Given the description of an element on the screen output the (x, y) to click on. 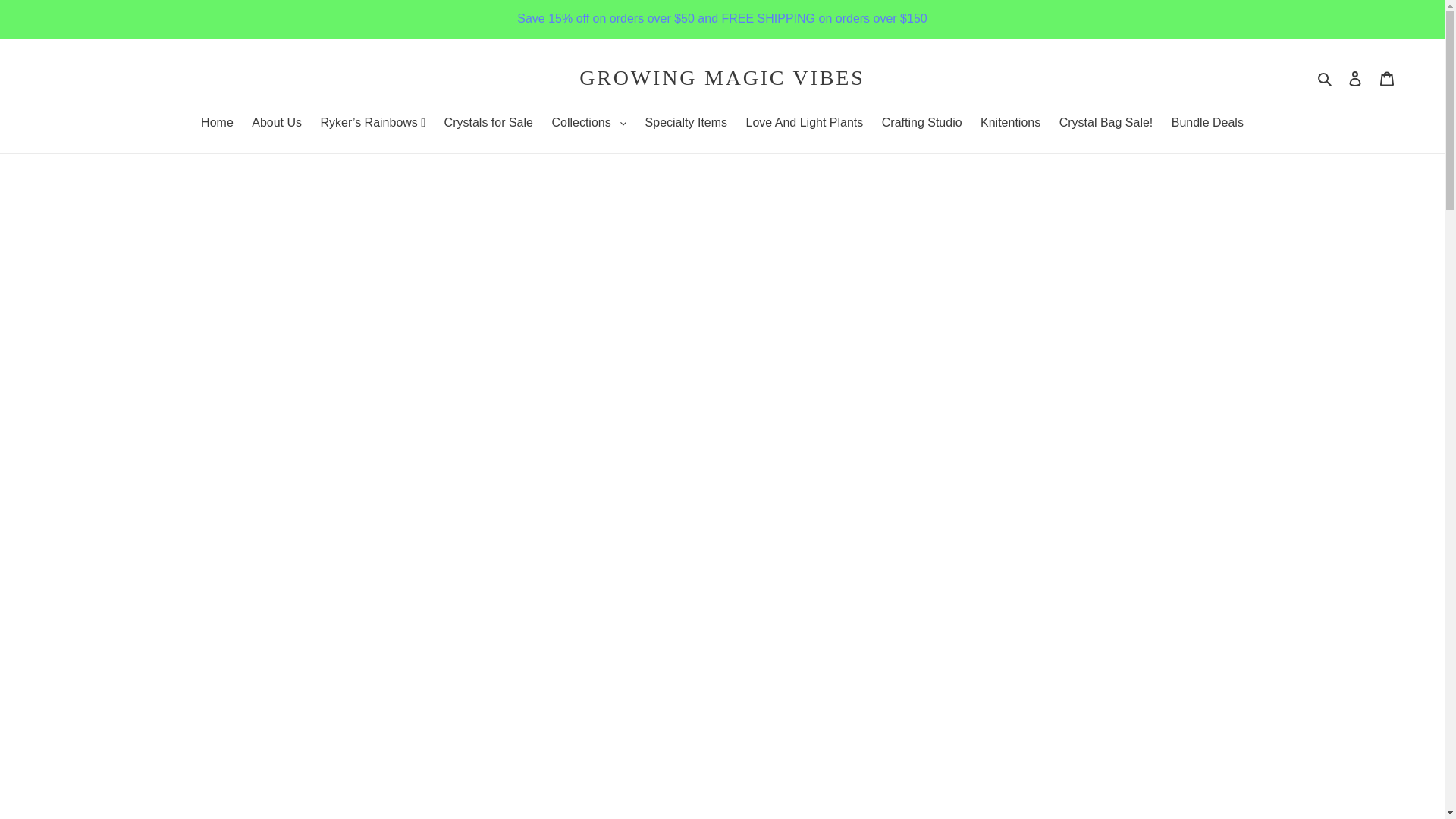
Search (1326, 77)
Log in (1355, 78)
Home (217, 123)
Cart (1387, 78)
About Us (276, 123)
Collections (588, 123)
Crystals for Sale (488, 123)
GROWING MAGIC VIBES (721, 77)
